Given the description of an element on the screen output the (x, y) to click on. 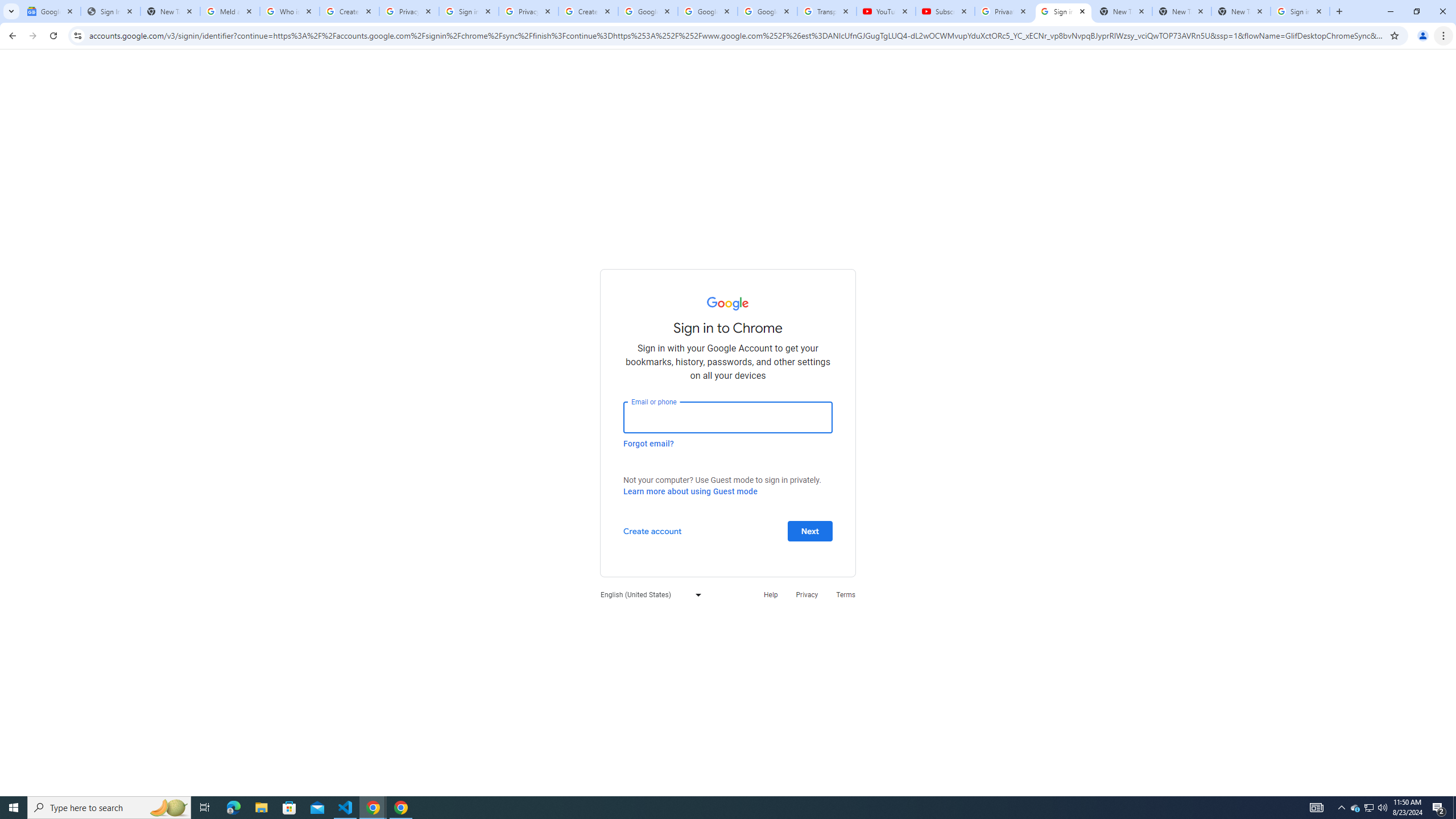
Create account (651, 530)
Create your Google Account (349, 11)
New Tab (1241, 11)
Learn more about using Guest mode (689, 491)
Subscriptions - YouTube (944, 11)
Email or phone (727, 417)
Google Account (767, 11)
